Given the description of an element on the screen output the (x, y) to click on. 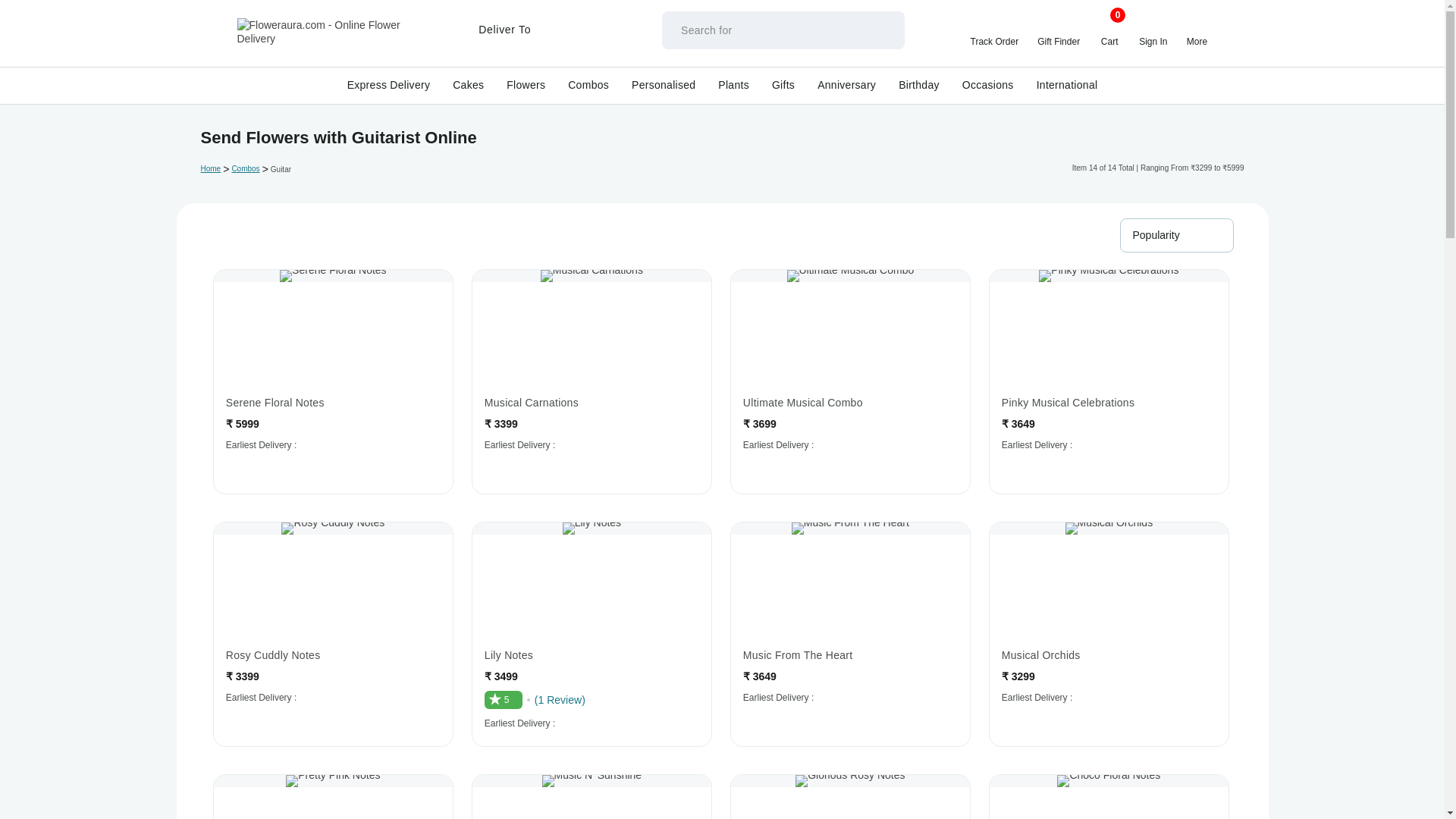
Home (333, 38)
Express Delivery (389, 84)
Track Order (995, 29)
Cakes (468, 84)
